Given the description of an element on the screen output the (x, y) to click on. 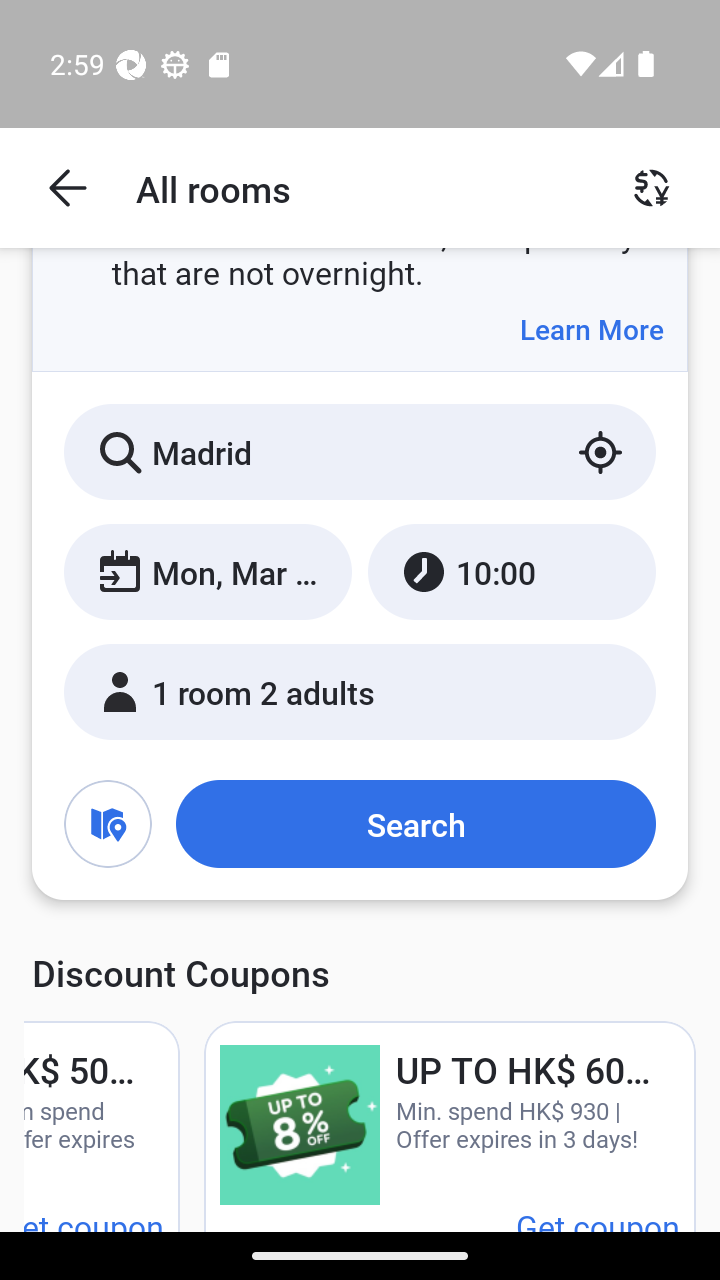
Learn More (591, 329)
Madrid (359, 452)
Mon, Mar 11 (208, 571)
10:00 (511, 571)
1 room 2 adults (359, 691)
Search (415, 823)
